Given the description of an element on the screen output the (x, y) to click on. 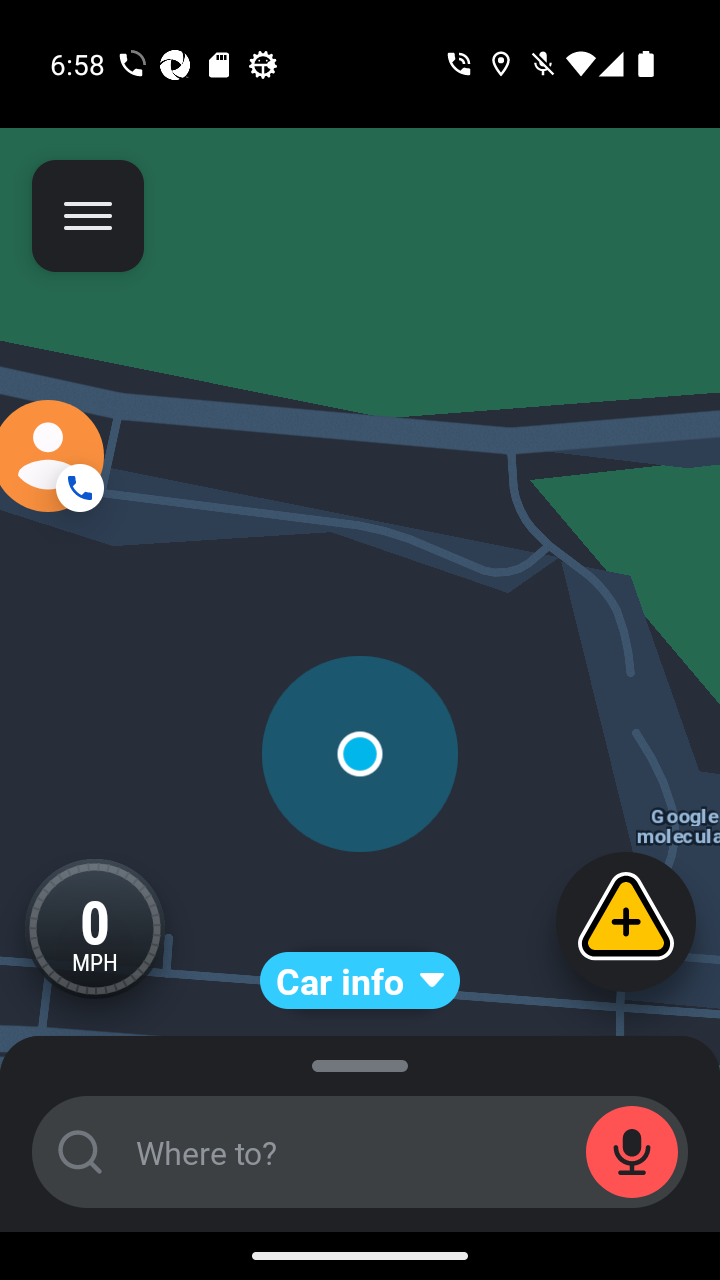
Car info (359, 980)
SUGGESTIONS_SHEET_DRAG_HANDLE (359, 1061)
START_STATE_SEARCH_FIELD Where to? (359, 1151)
